Given the description of an element on the screen output the (x, y) to click on. 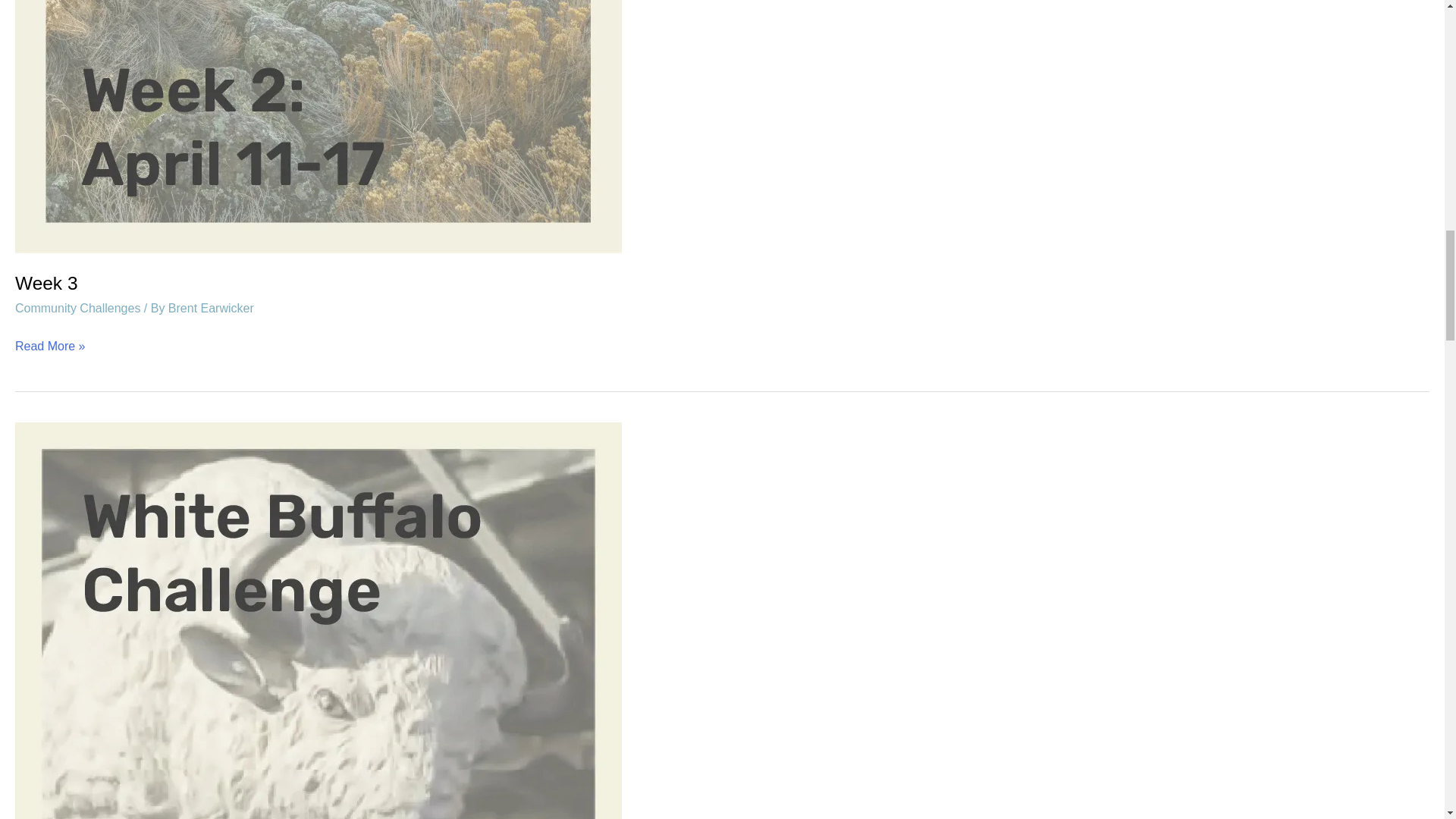
Week 3 (46, 282)
Brent Earwicker (210, 308)
Community Challenges (76, 308)
View all posts by Brent Earwicker (210, 308)
